Given the description of an element on the screen output the (x, y) to click on. 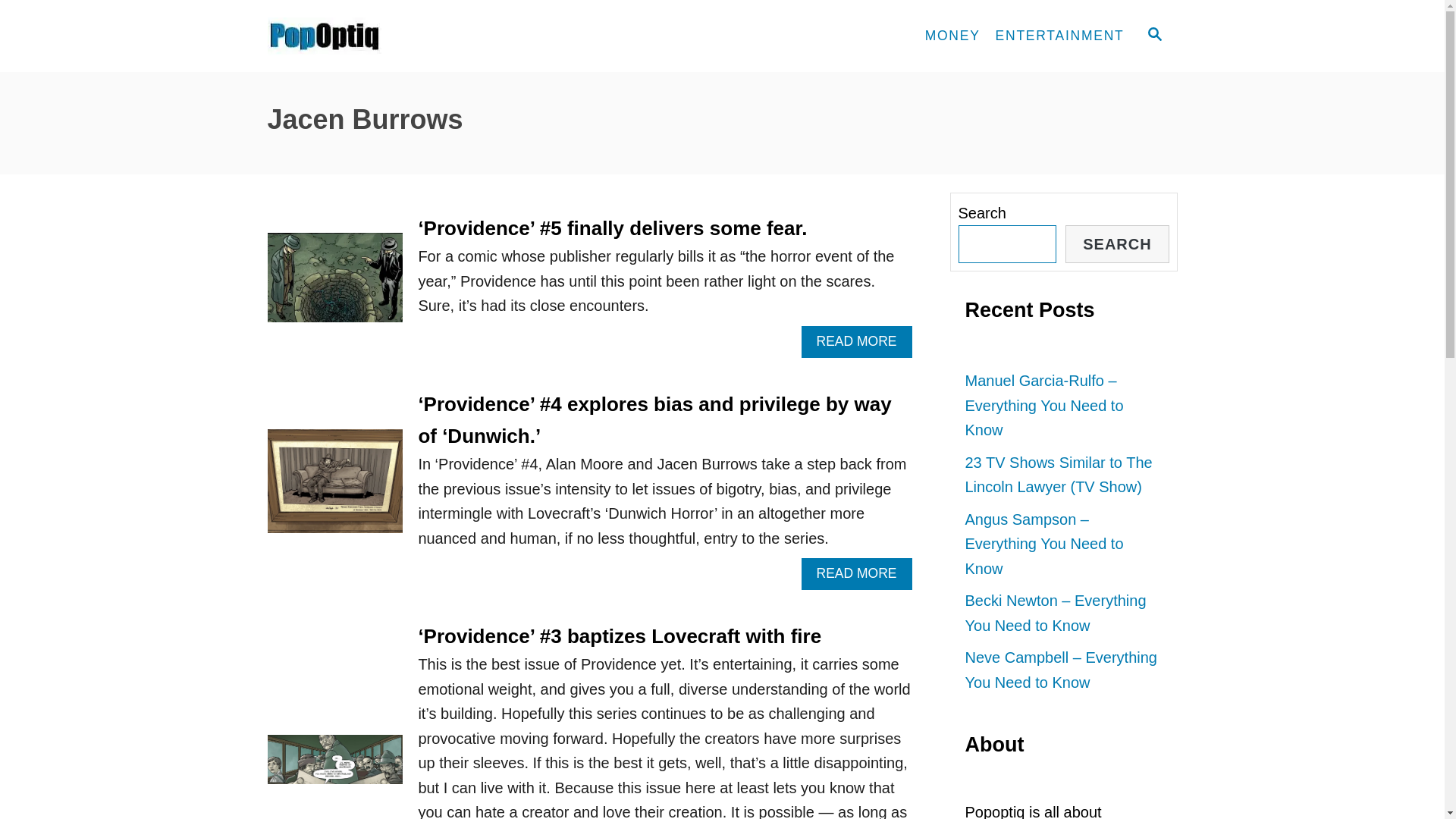
PopOptiq (403, 36)
ENTERTAINMENT (1060, 36)
SEARCH (1117, 243)
MONEY (952, 36)
SEARCH (1153, 35)
